Given the description of an element on the screen output the (x, y) to click on. 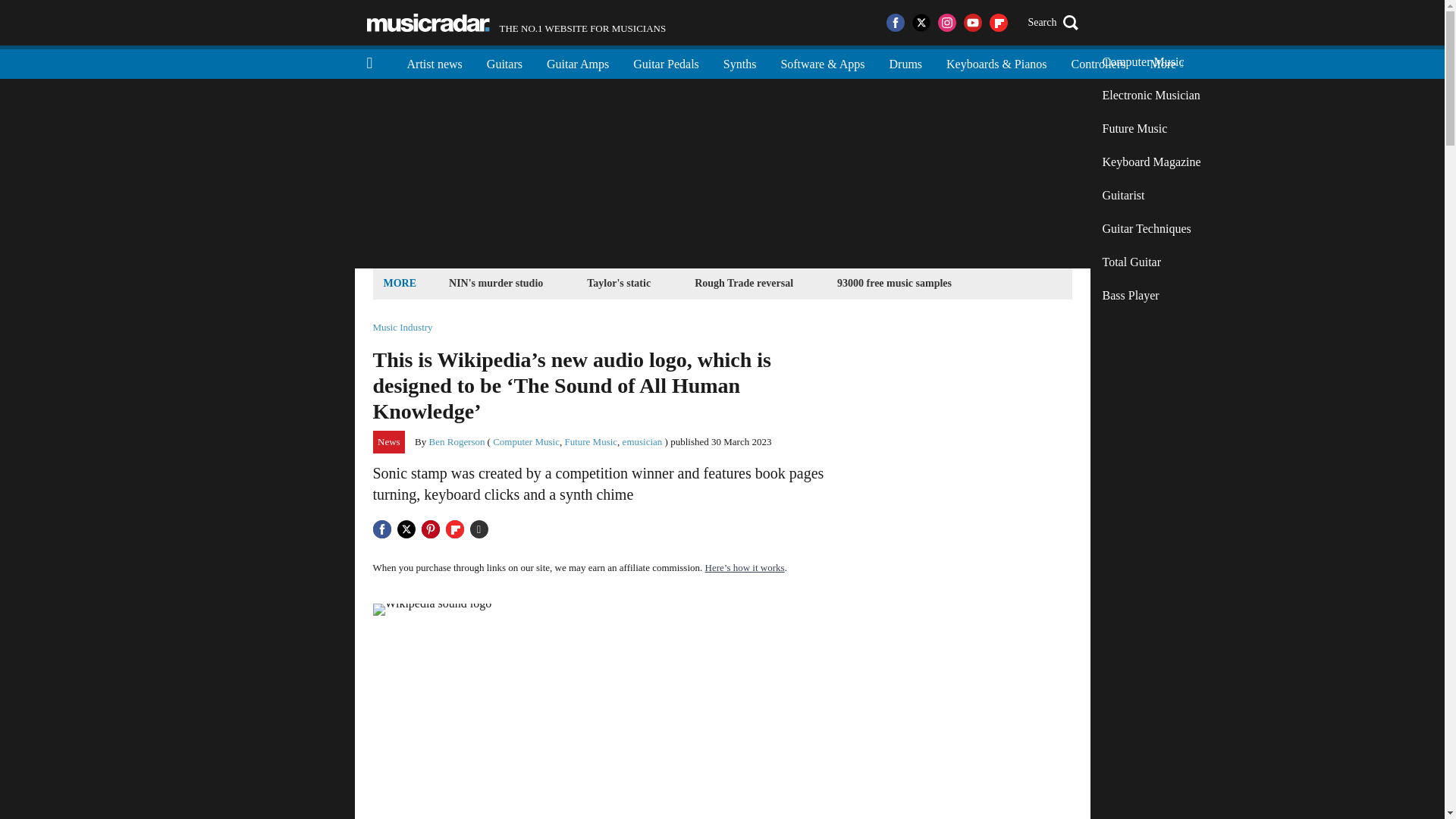
Keyboard Magazine (1151, 162)
Guitar Amps (577, 61)
Electronic Musician (1151, 95)
Drums (905, 61)
Rough Trade reversal (742, 282)
Taylor's static (618, 282)
Artist news (434, 61)
93000 free music samples (893, 282)
NIN's murder studio (496, 282)
Total Guitar (1151, 262)
